Given the description of an element on the screen output the (x, y) to click on. 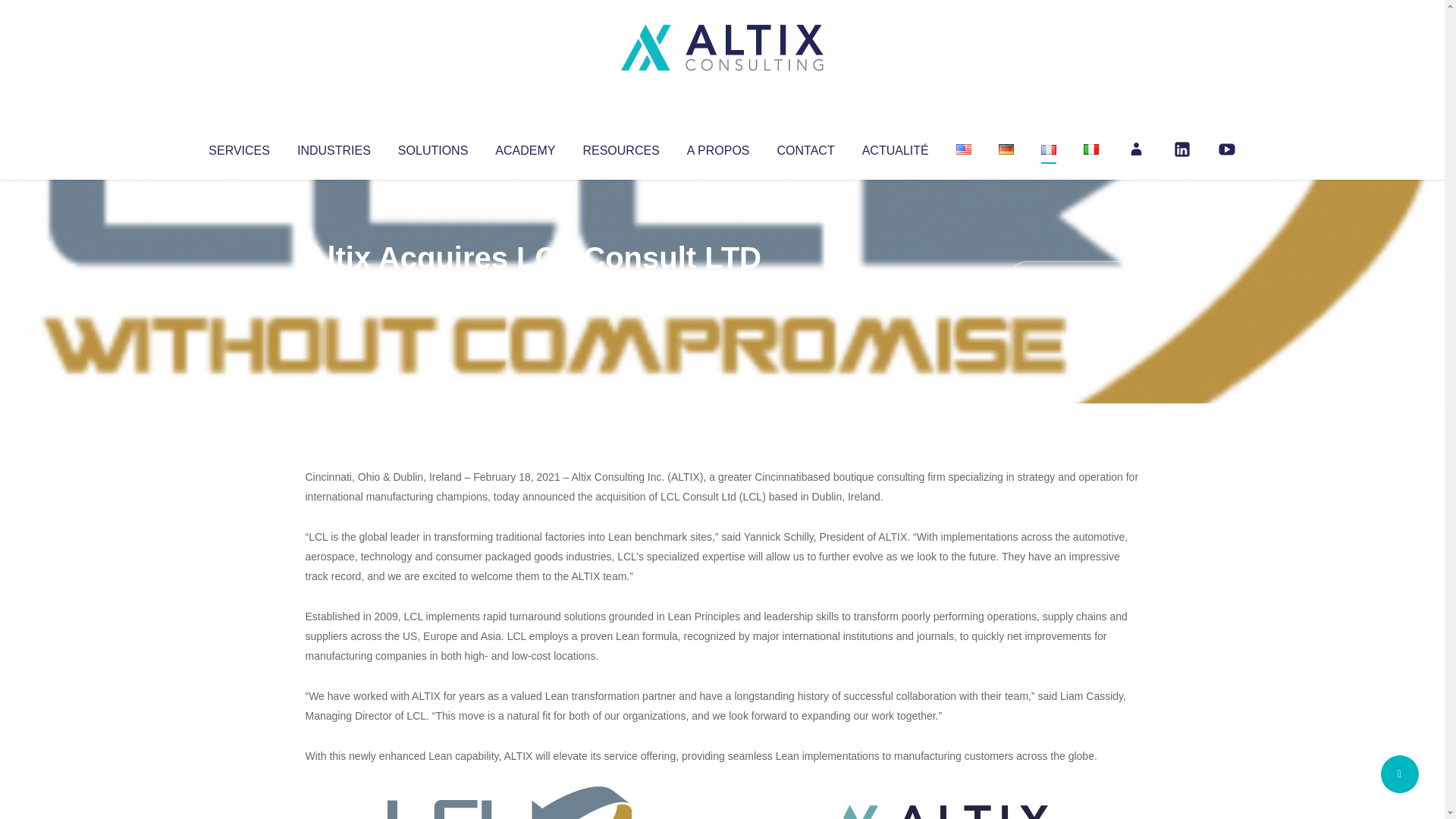
A PROPOS (718, 146)
SERVICES (238, 146)
Altix (333, 287)
INDUSTRIES (334, 146)
Uncategorized (530, 287)
SOLUTIONS (432, 146)
No Comments (1073, 278)
ACADEMY (524, 146)
Articles par Altix (333, 287)
RESOURCES (620, 146)
